Given the description of an element on the screen output the (x, y) to click on. 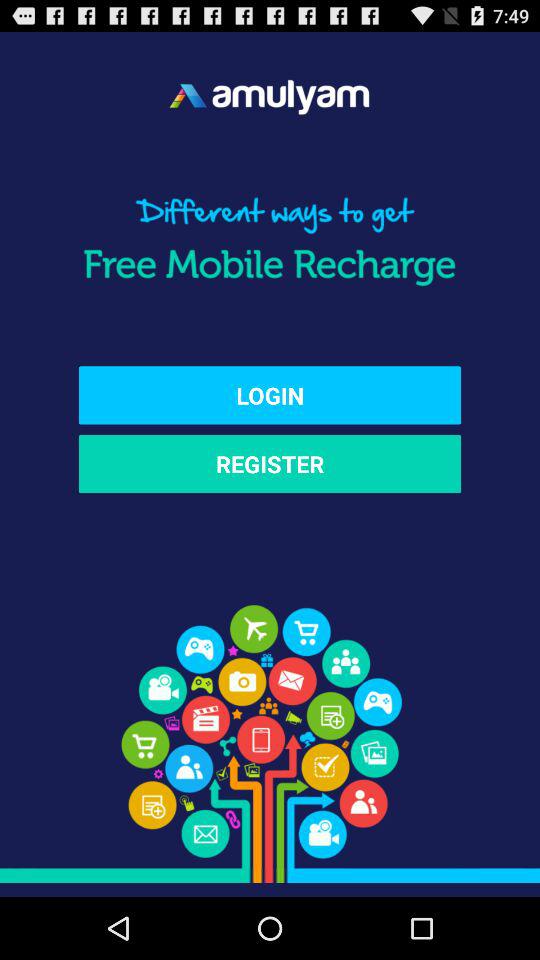
flip until login item (269, 395)
